Given the description of an element on the screen output the (x, y) to click on. 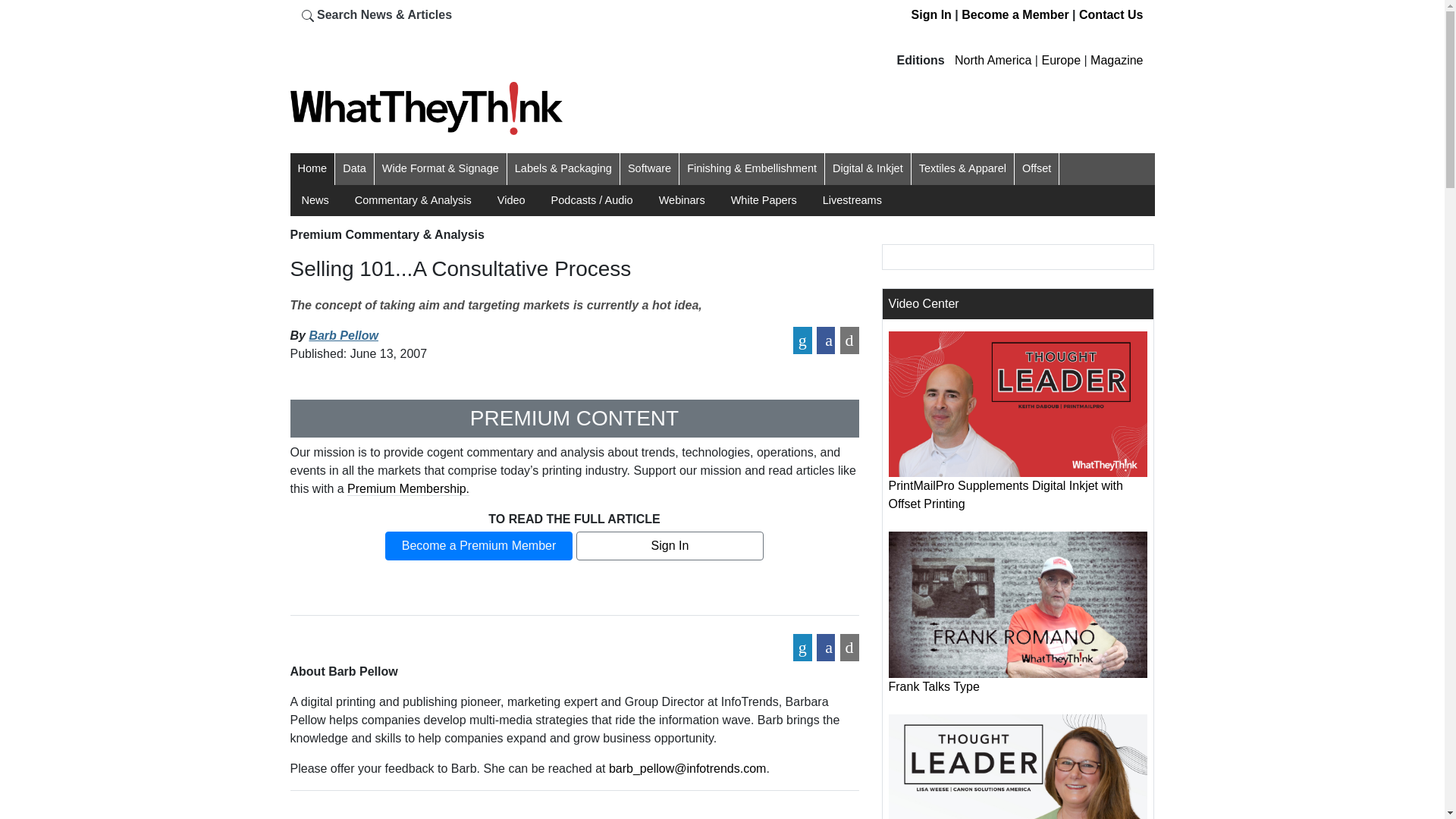
Magazine (1116, 60)
Europe (1060, 60)
North America (992, 60)
Software (649, 168)
Home (311, 168)
Contact Us (1110, 14)
Video (511, 200)
Sign In (931, 14)
Webinars (681, 200)
News (315, 200)
White Papers (763, 200)
Become a Member (1014, 14)
Data (354, 168)
Livestreams (852, 200)
